Given the description of an element on the screen output the (x, y) to click on. 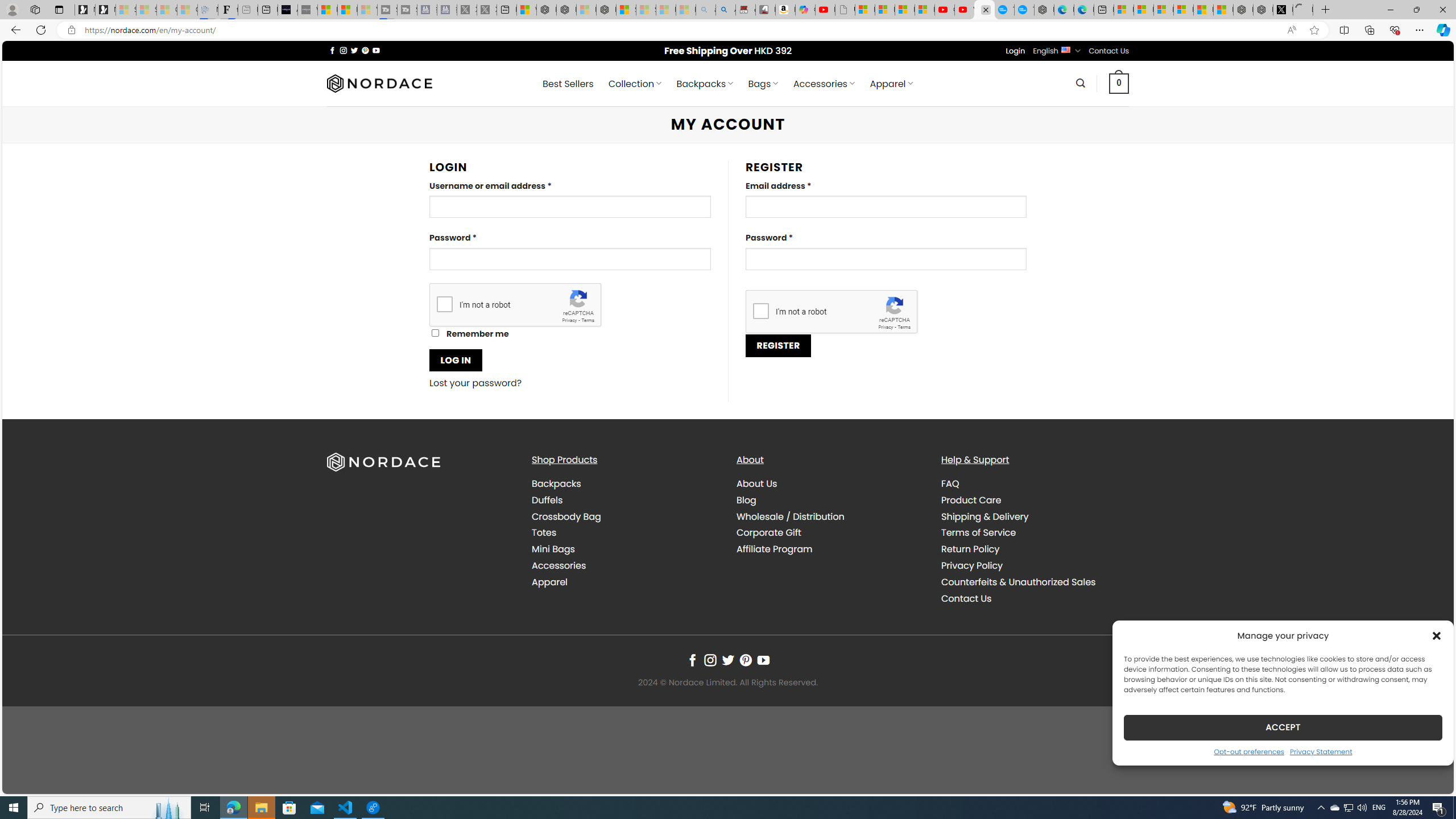
Privacy Policy (971, 565)
Crossbody Bag (625, 516)
Remember me (434, 333)
Return Policy (1034, 549)
Duffels (547, 499)
  0   (1118, 83)
 0  (1118, 83)
Crossbody Bag (566, 516)
